Given the description of an element on the screen output the (x, y) to click on. 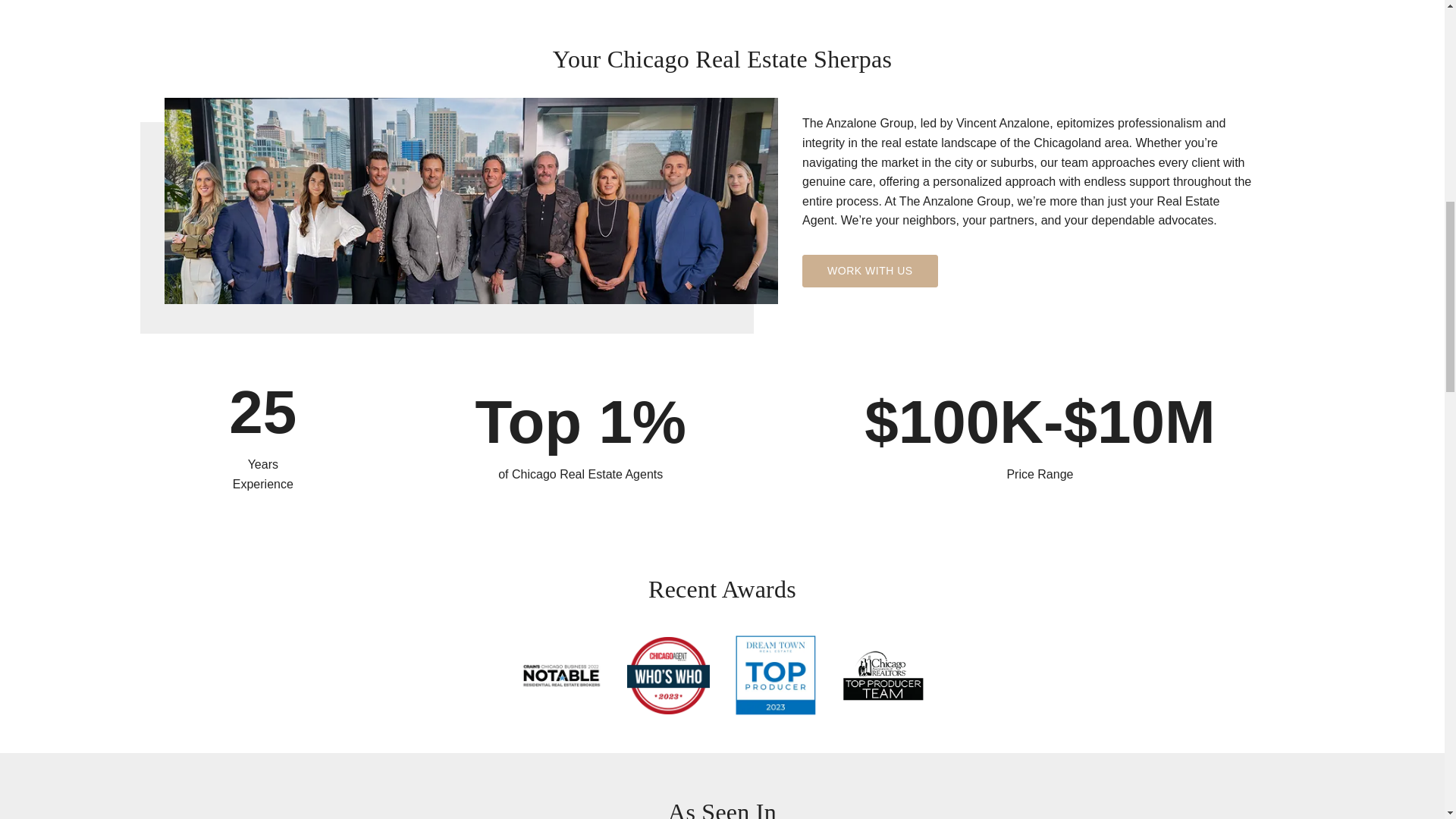
WORK WITH US (869, 270)
